Given the description of an element on the screen output the (x, y) to click on. 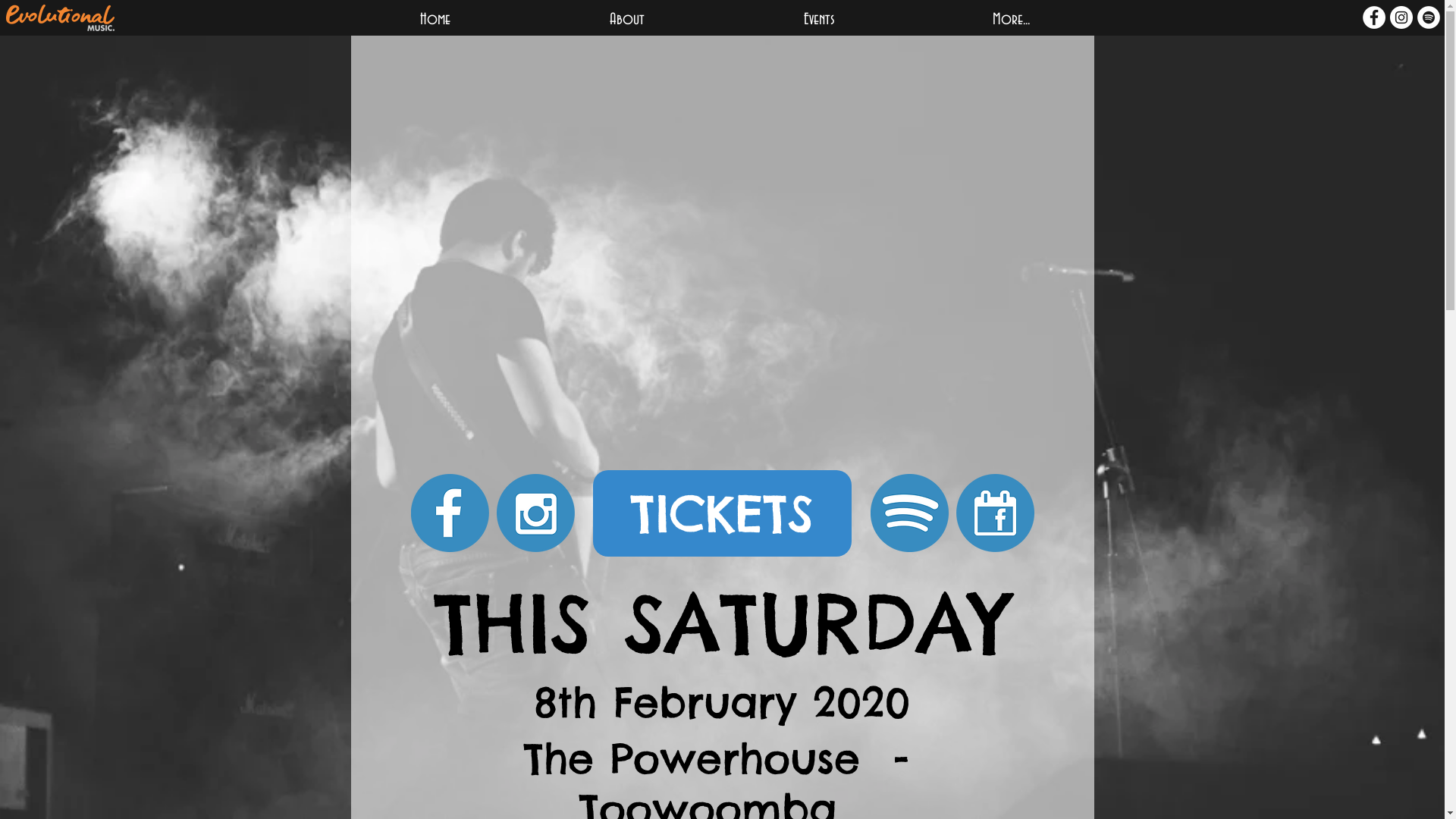
Events Element type: text (819, 19)
Home Element type: text (435, 19)
TICKETS Element type: text (722, 513)
About Element type: text (627, 19)
